Given the description of an element on the screen output the (x, y) to click on. 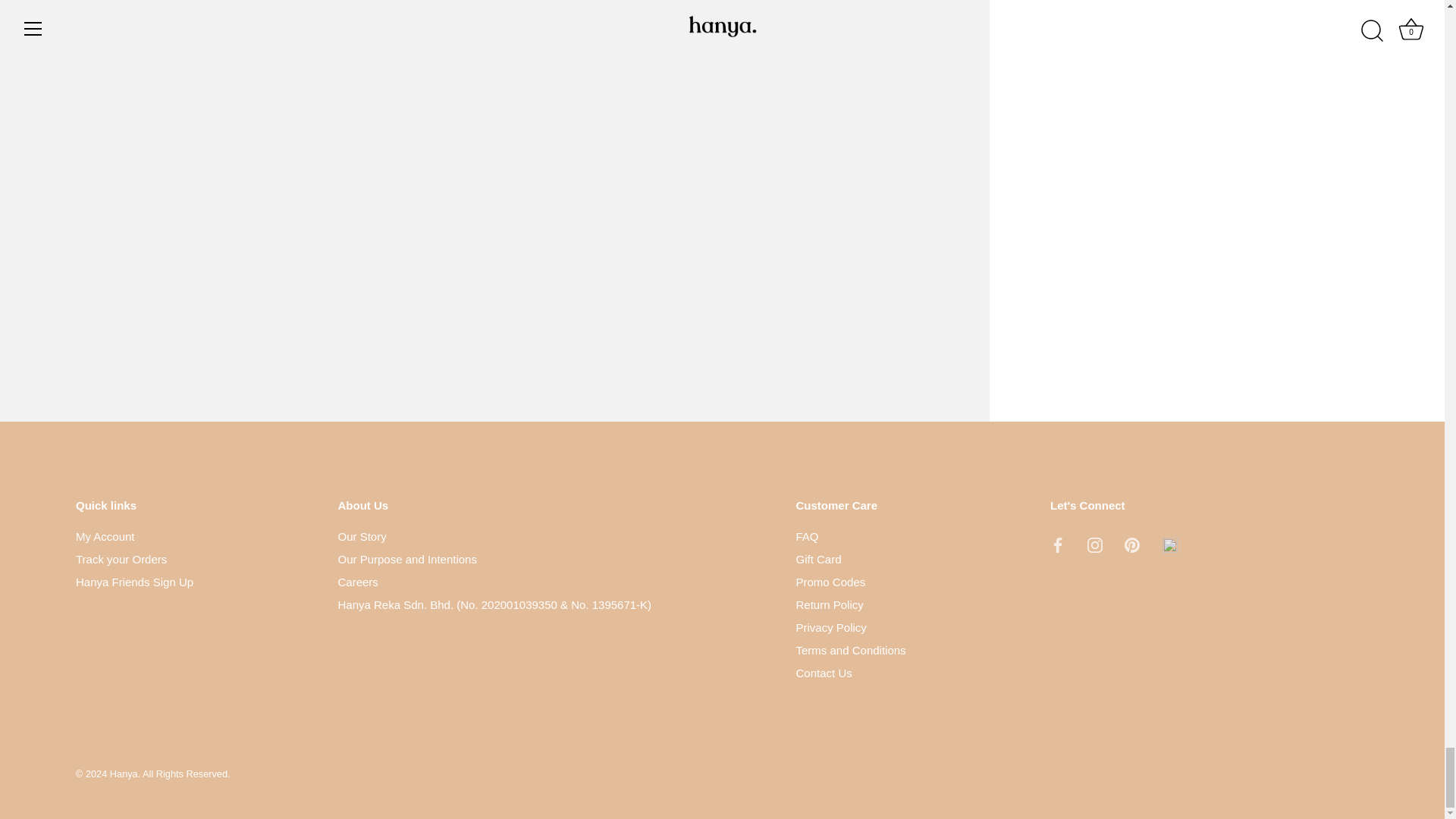
Pinterest (1132, 544)
Instagram (1094, 544)
